Given the description of an element on the screen output the (x, y) to click on. 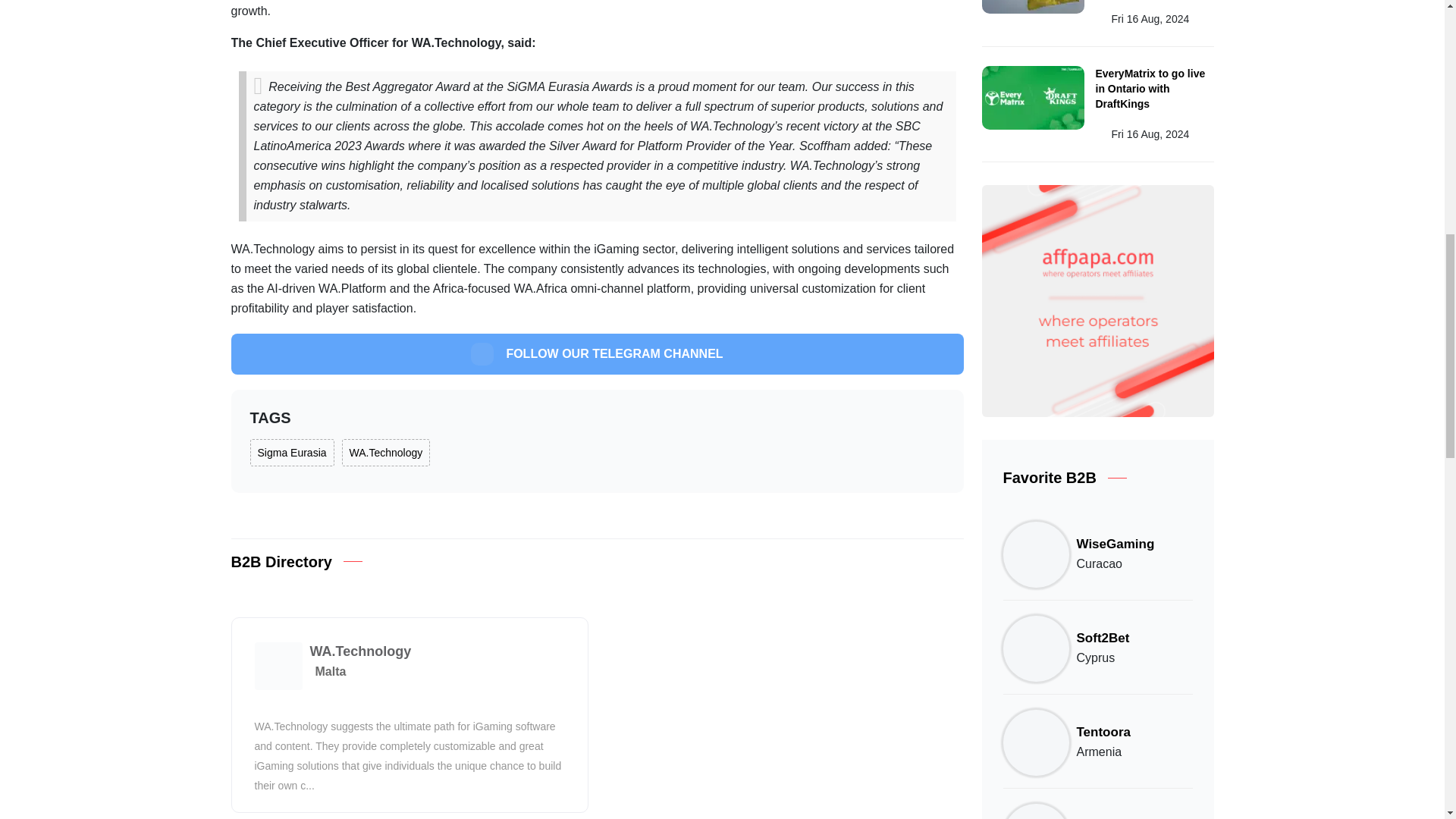
Sigma Eurasia (292, 452)
WA.Technology (359, 651)
FOLLOW OUR TELEGRAM CHANNEL (596, 353)
WA.Technology (386, 452)
B2B Directory (280, 561)
